Given the description of an element on the screen output the (x, y) to click on. 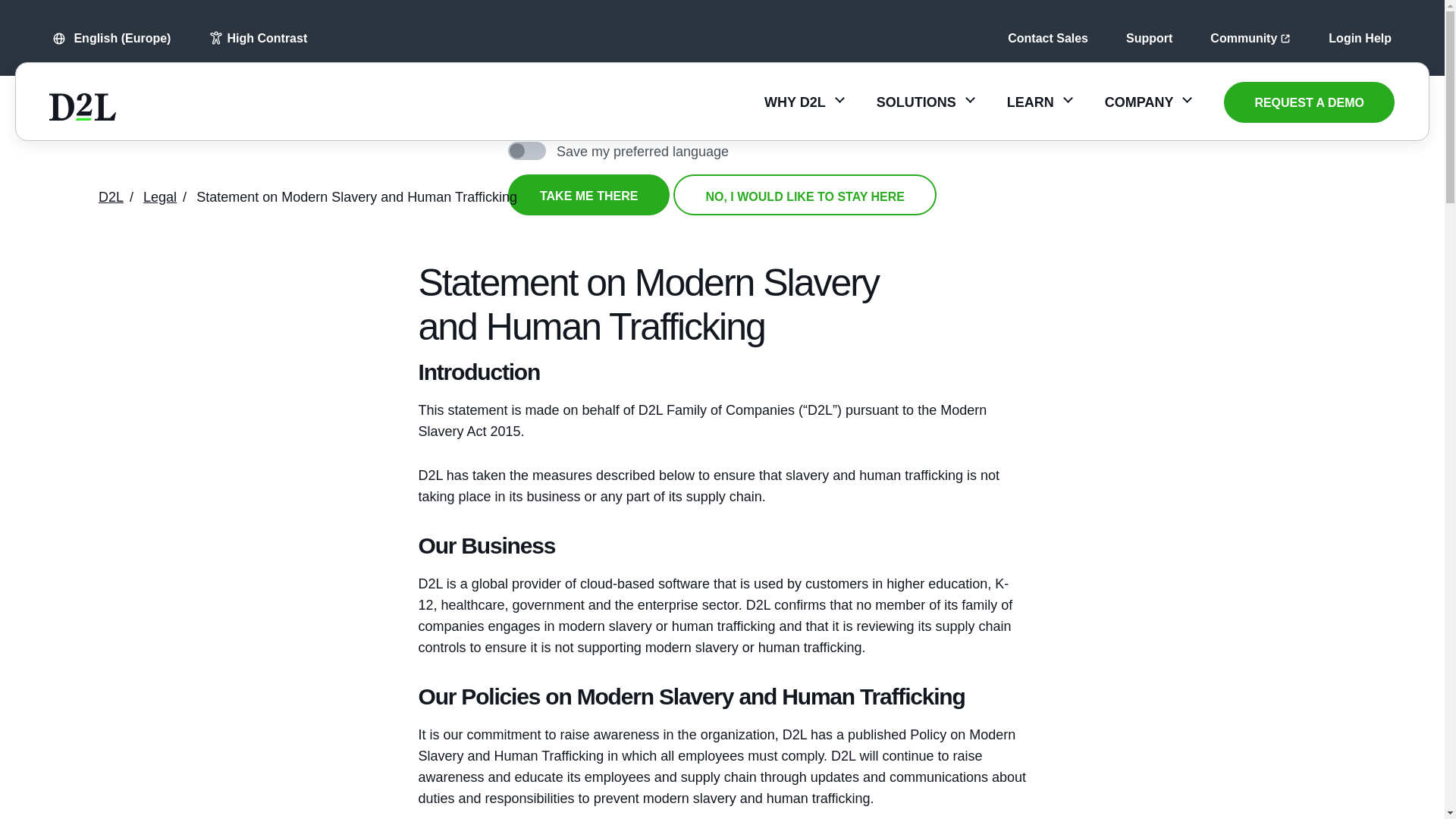
Contact Sales (1047, 38)
SOLUTIONS (925, 102)
Go to Legal. (159, 196)
Community (1249, 38)
Login Help (1359, 38)
WHY D2L (803, 102)
High Contrast (257, 38)
Support (1148, 38)
Go to D2L. (111, 196)
